Given the description of an element on the screen output the (x, y) to click on. 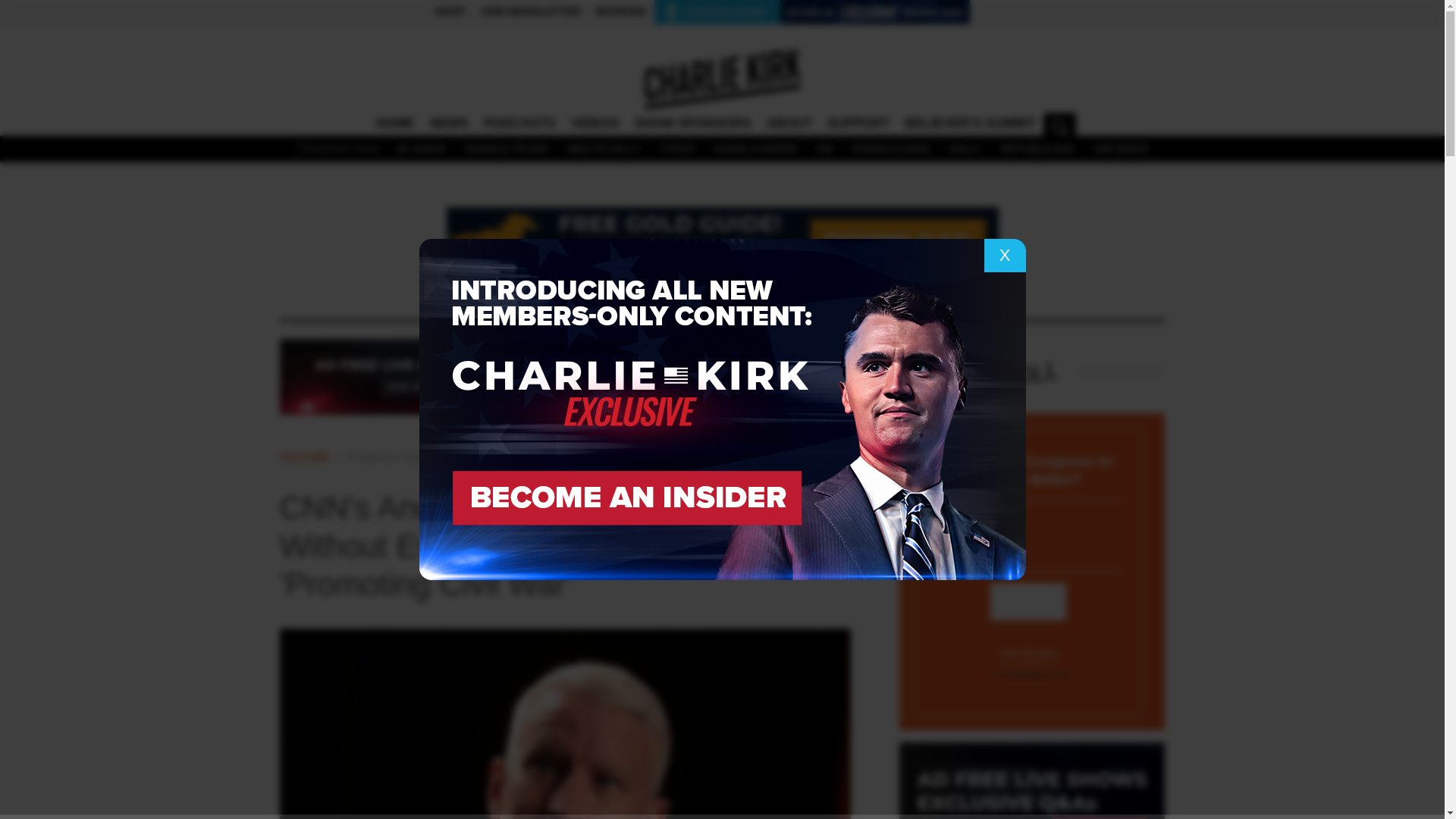
PODCASTS (519, 123)
VIDEOS (594, 123)
JD VANCE (419, 148)
JOIN NEWSLETTER (529, 12)
SUPPORT (857, 123)
LISTEN NOW (716, 13)
NEWS (449, 123)
BOOKING (620, 12)
DONALD TRUMP (506, 148)
SHOP (448, 12)
MEGYN KELLY (603, 148)
ABOUT (788, 123)
SHOW SPONSORS (692, 123)
CHARLIE KIRK EXCLUSIVE CONTENT (898, 12)
HOME (395, 123)
